Given the description of an element on the screen output the (x, y) to click on. 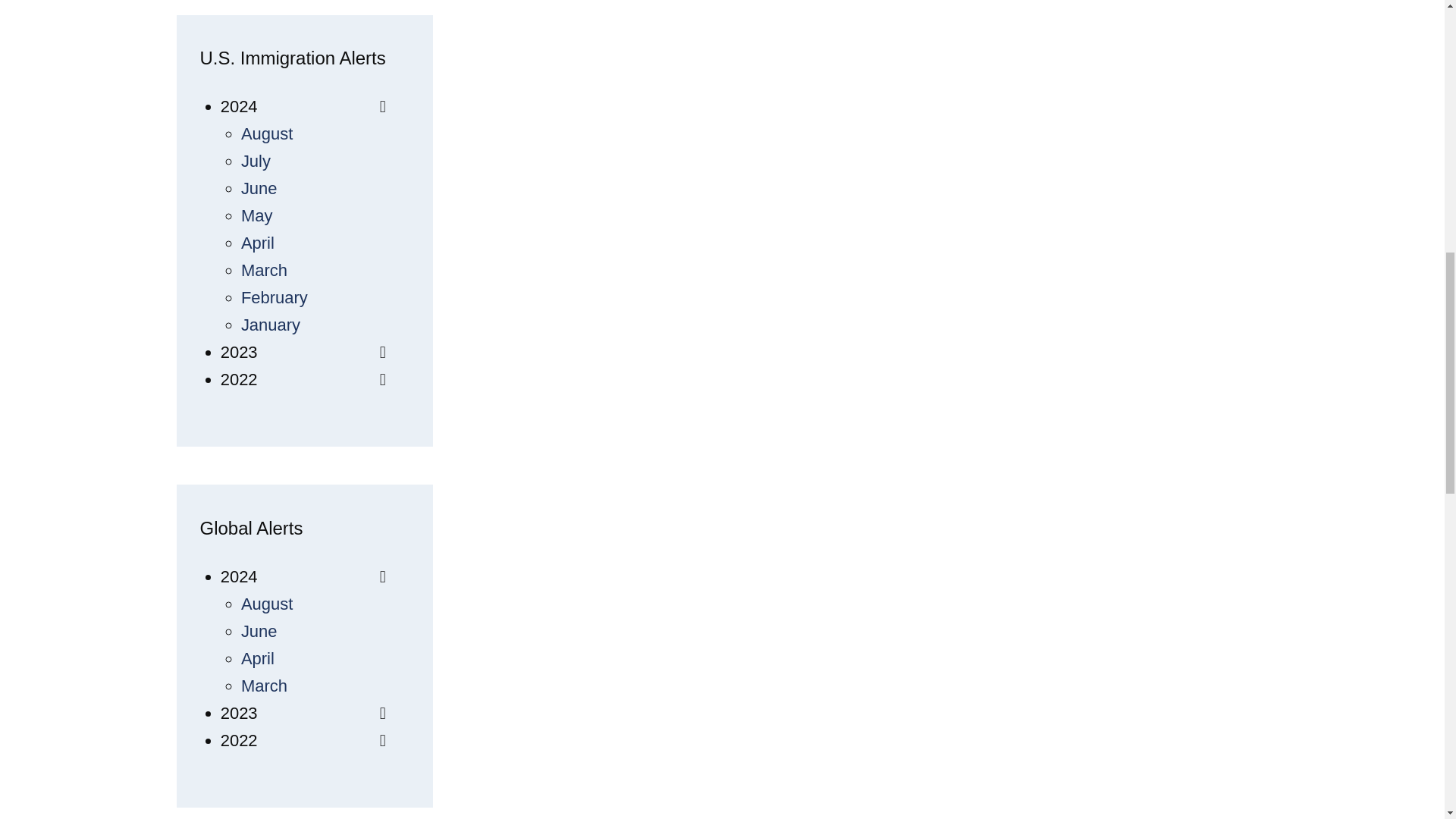
February (274, 297)
August (266, 133)
March (263, 270)
April (258, 242)
May (257, 215)
June (259, 188)
July (255, 160)
January (270, 324)
